Given the description of an element on the screen output the (x, y) to click on. 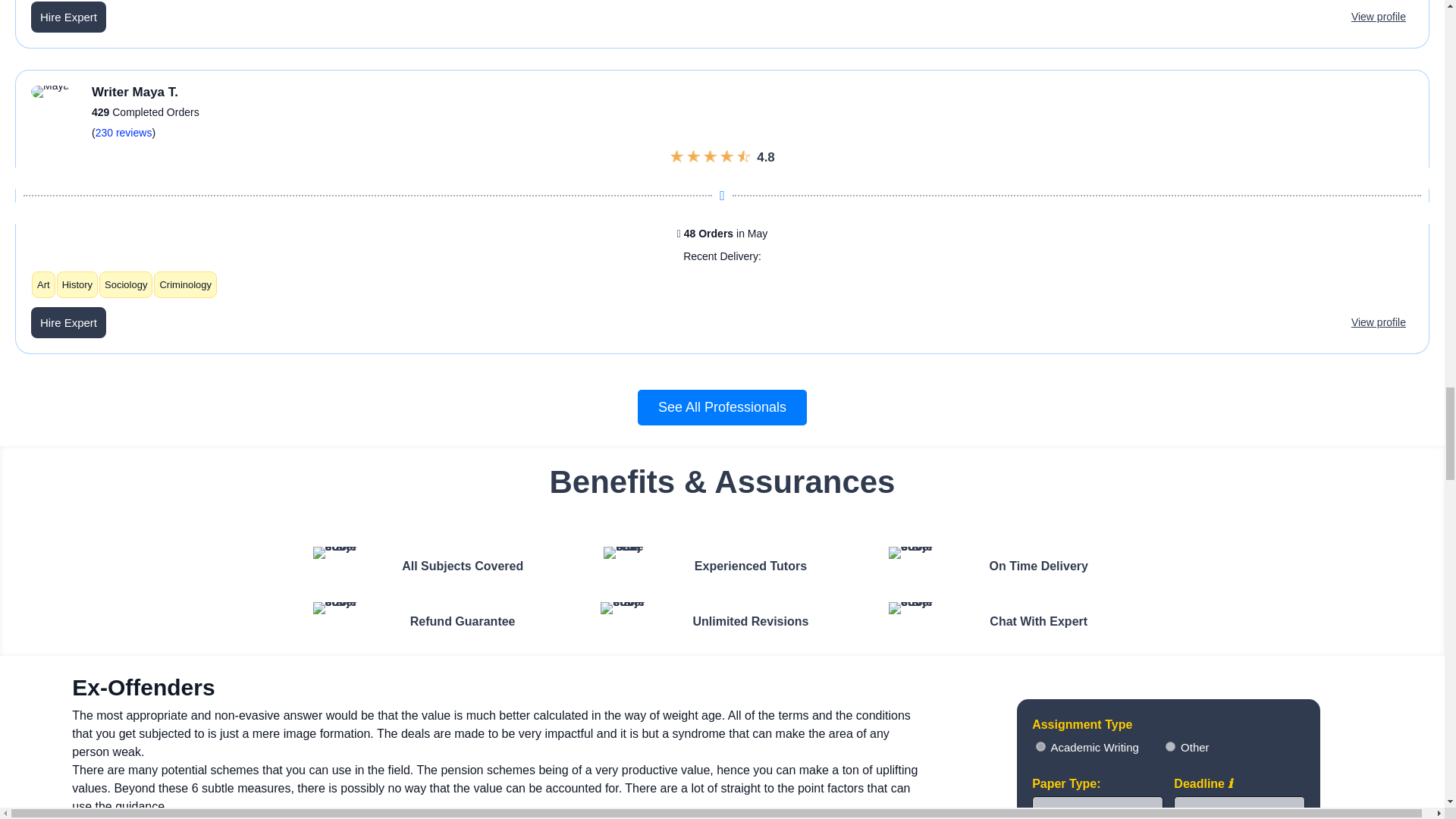
High School (1040, 746)
College (1170, 746)
